Given the description of an element on the screen output the (x, y) to click on. 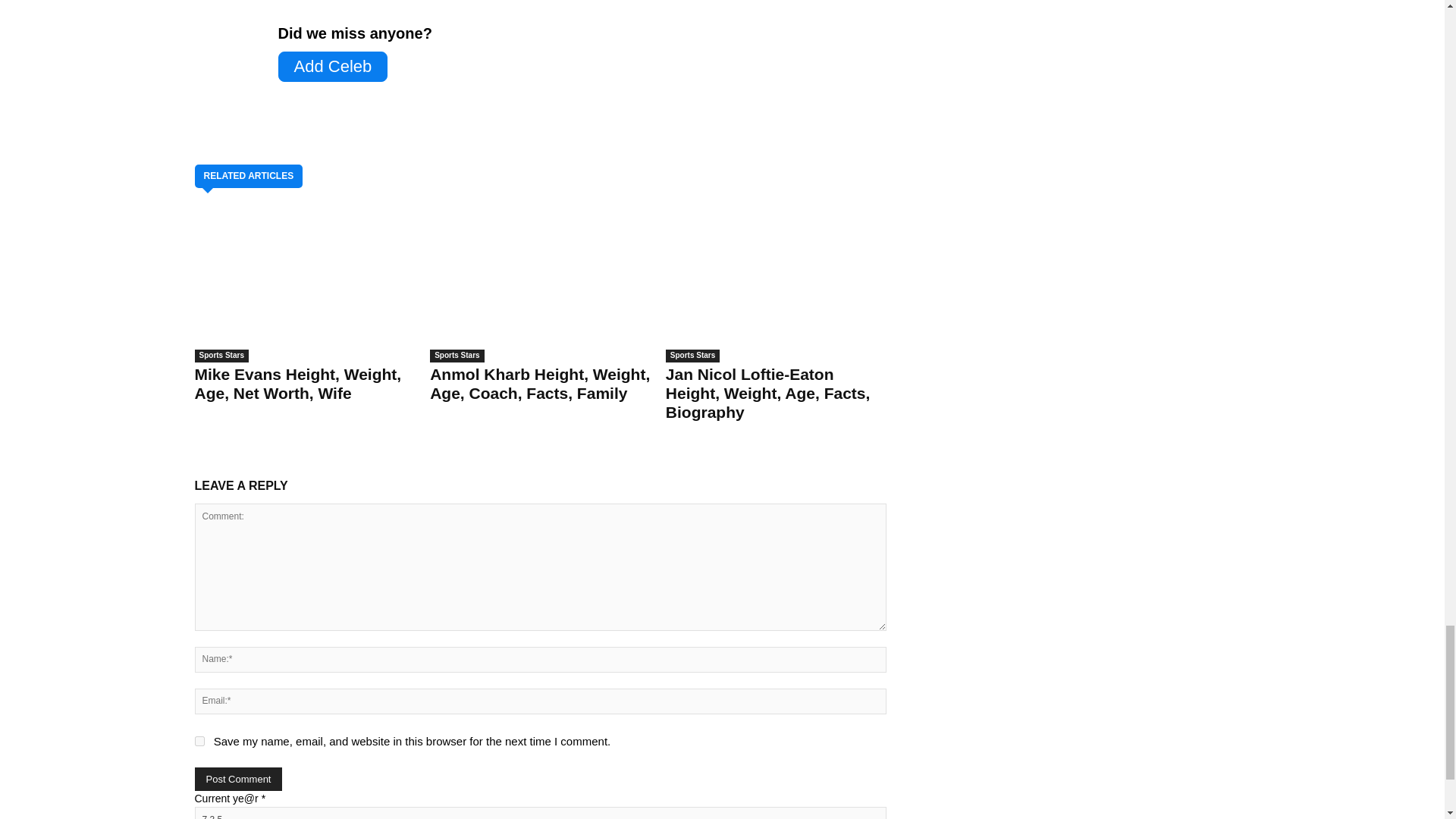
Post Comment (237, 779)
7.3.5 (539, 812)
yes (198, 741)
Add Celeb (332, 66)
